Given the description of an element on the screen output the (x, y) to click on. 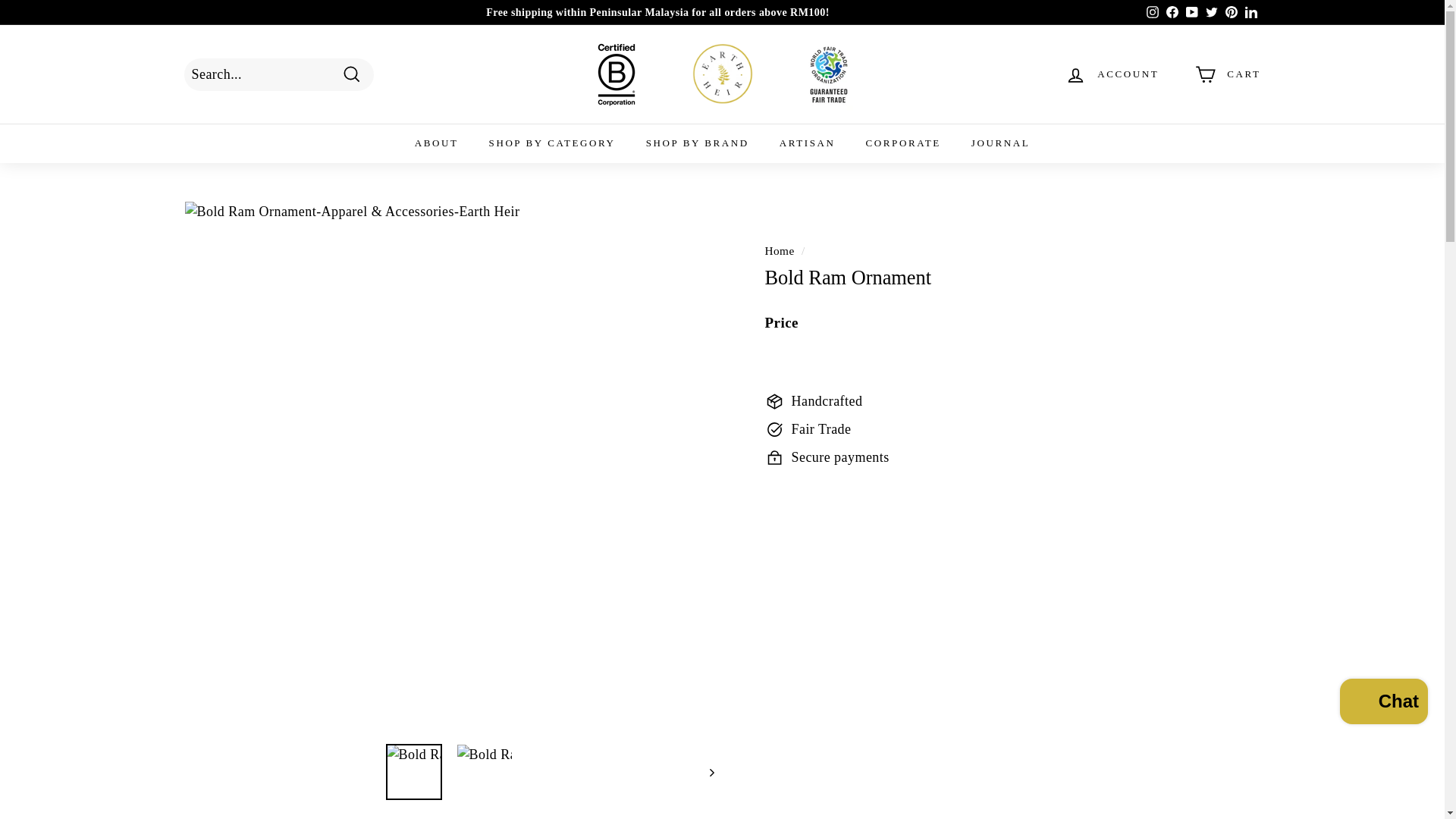
Back to the frontpage (778, 250)
ACCOUNT (1112, 73)
SHOP BY CATEGORY (552, 142)
ABOUT (436, 142)
